Given the description of an element on the screen output the (x, y) to click on. 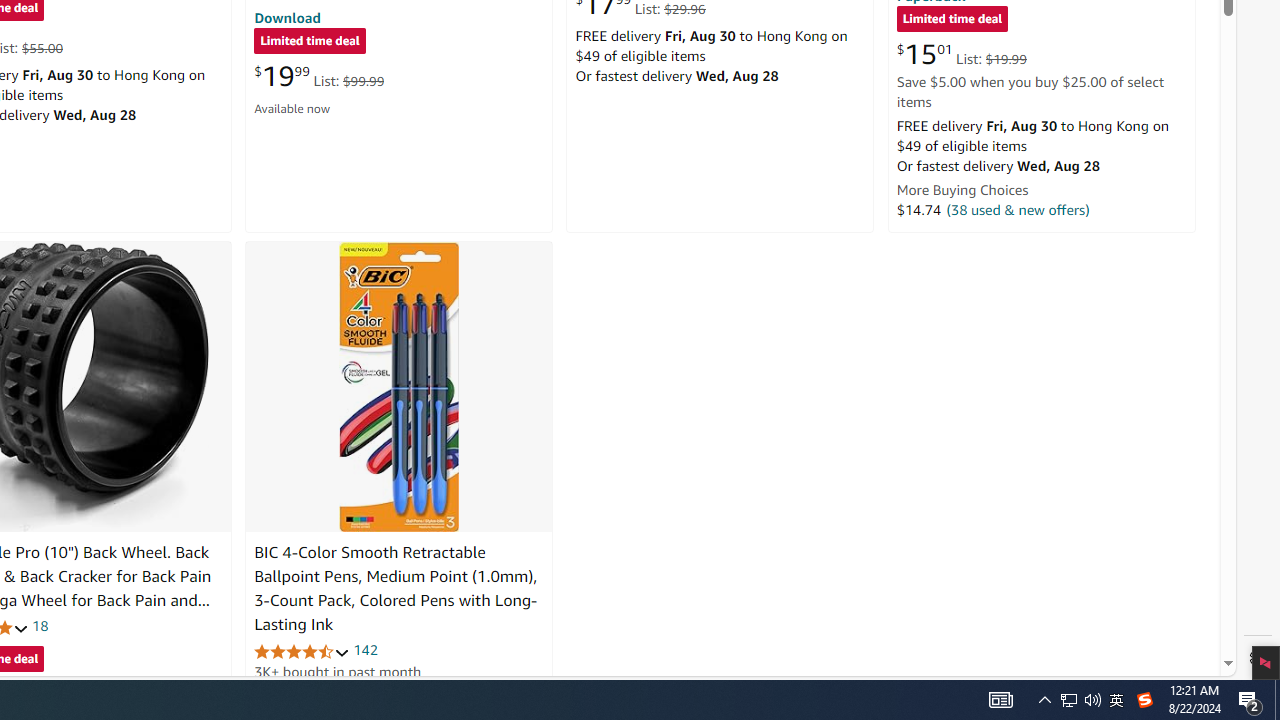
$19.99 List: $99.99 (319, 76)
$15.01 List: $19.99 (961, 54)
142 (365, 650)
(38 used & new offers) (1017, 209)
Limited time deal (952, 20)
Download (287, 17)
4.6 out of 5 stars (301, 650)
18 (40, 625)
